Given the description of an element on the screen output the (x, y) to click on. 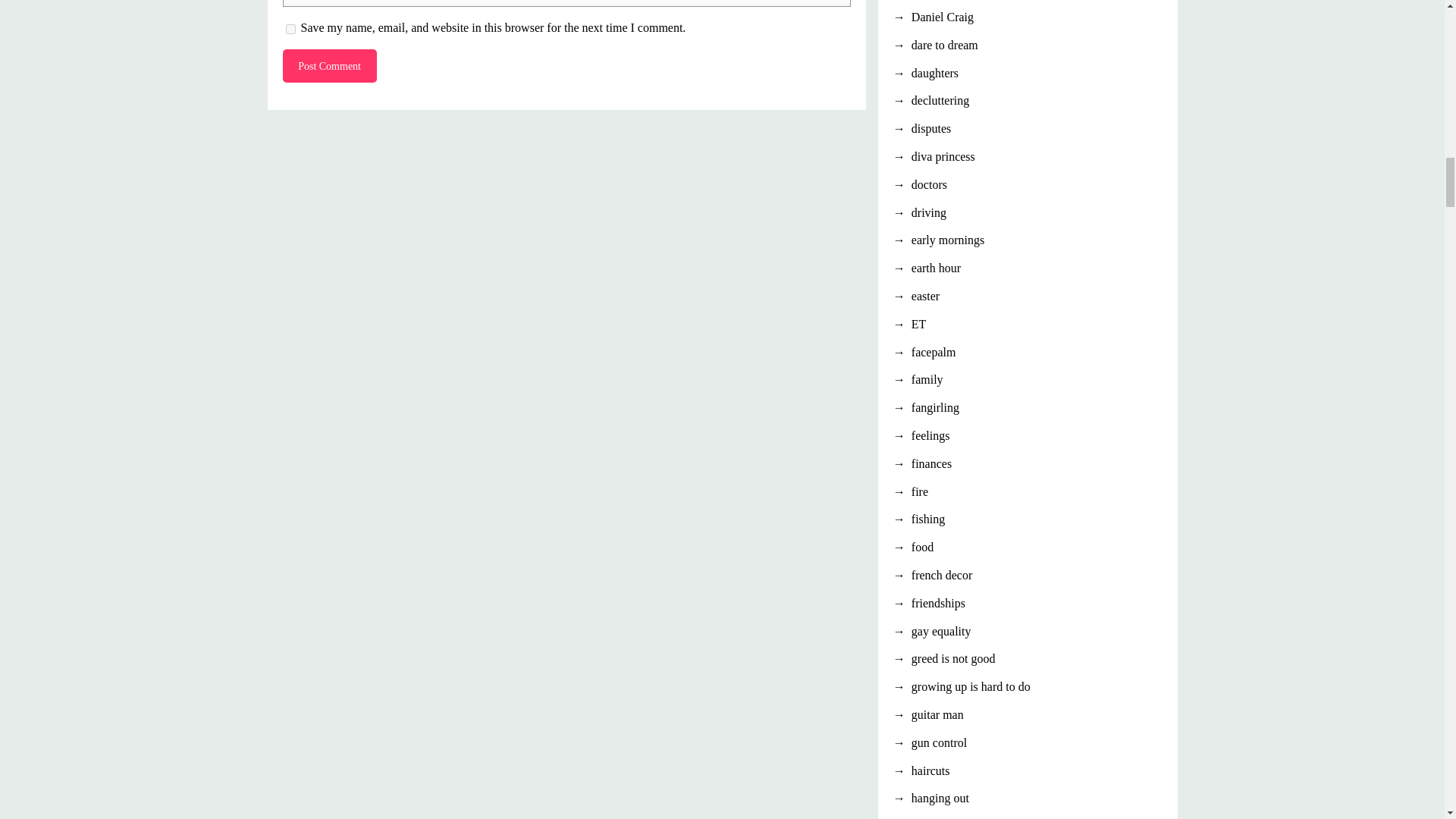
Post Comment (328, 65)
Post Comment (328, 65)
